Given the description of an element on the screen output the (x, y) to click on. 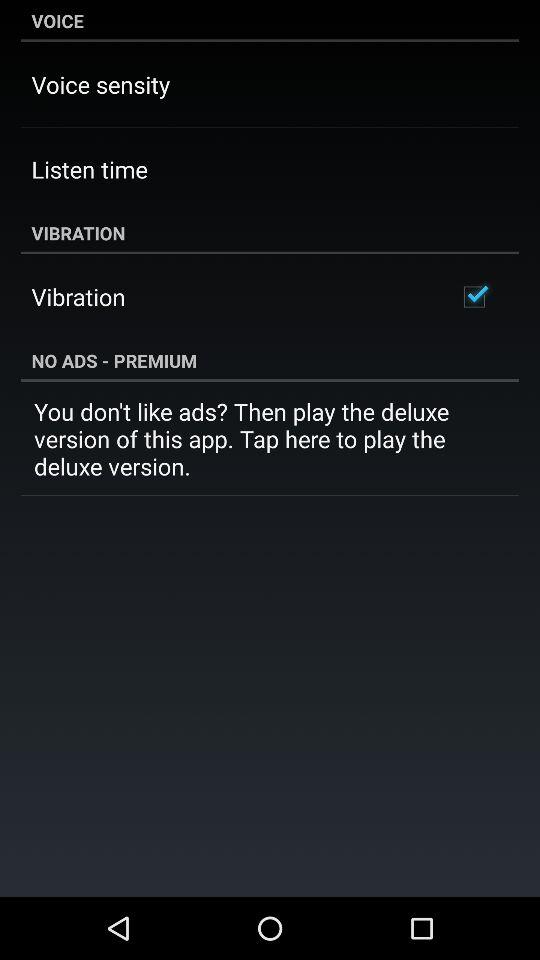
open app above the listen time (100, 84)
